Given the description of an element on the screen output the (x, y) to click on. 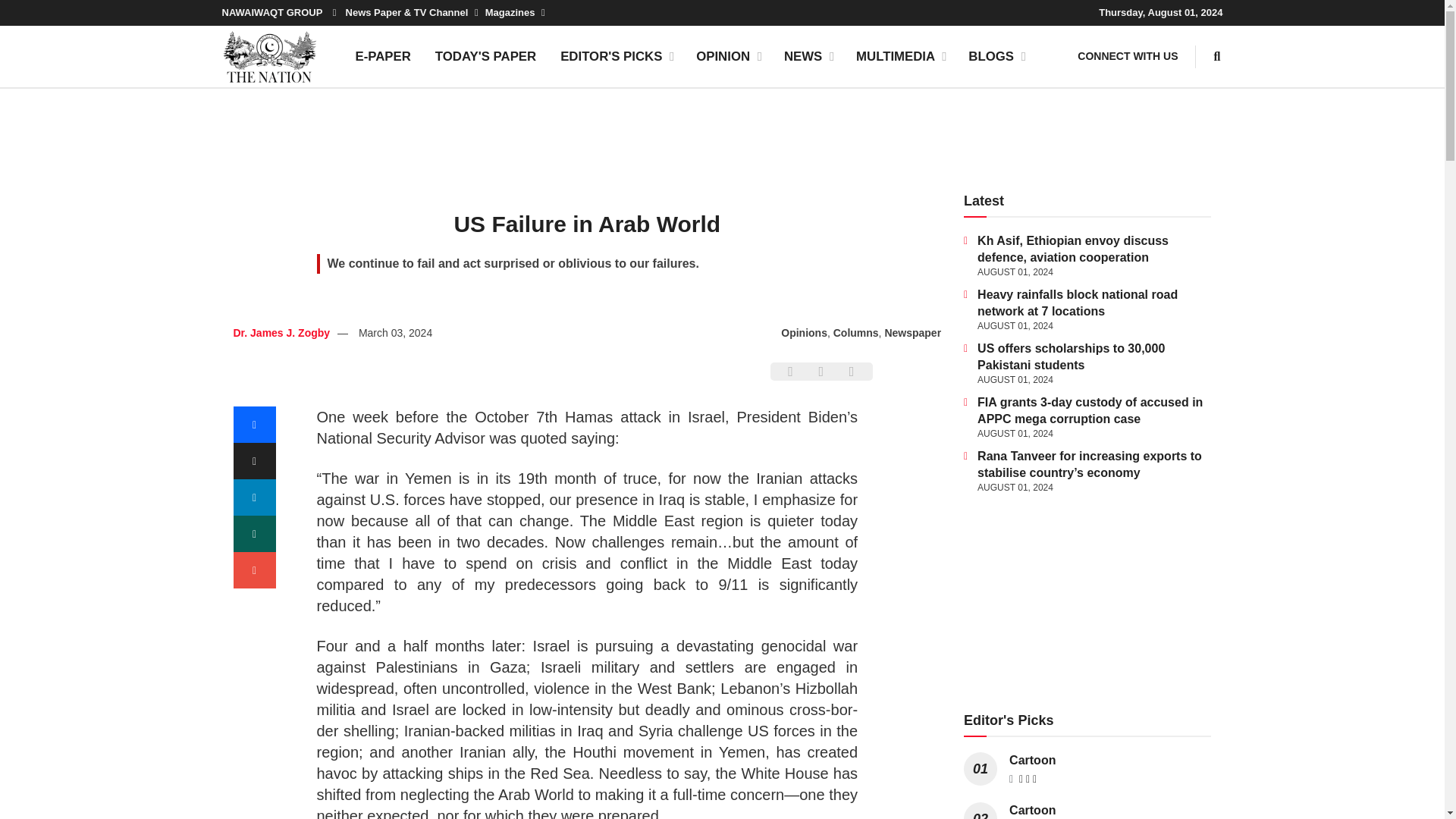
NEWS (807, 55)
BLOGS (995, 55)
EDITOR'S PICKS (616, 55)
Magazines (513, 12)
MULTIMEDIA (900, 55)
E-PAPER (382, 55)
TODAY'S PAPER (485, 55)
OPINION (727, 55)
